Given the description of an element on the screen output the (x, y) to click on. 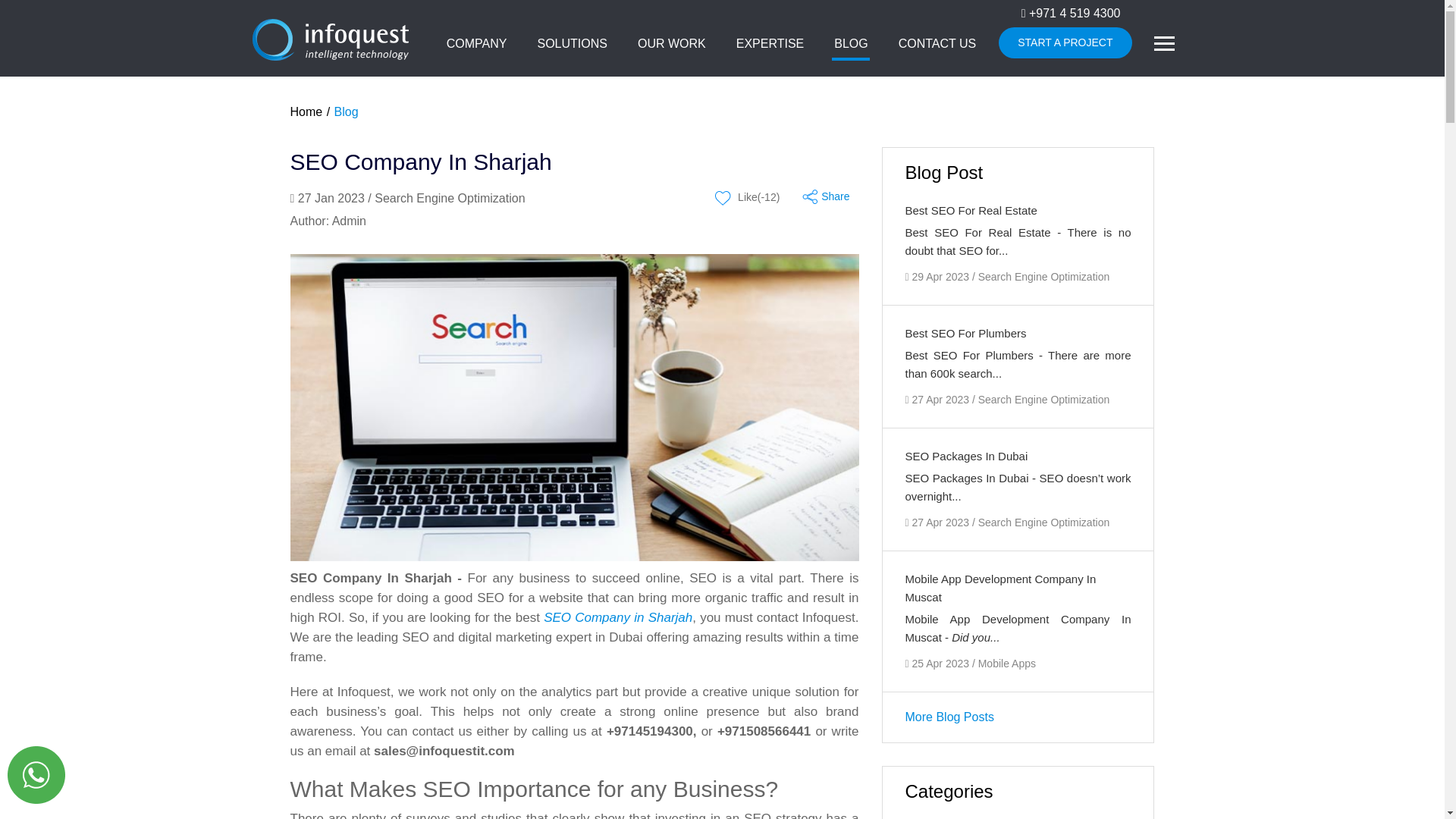
EXPERTISE (770, 45)
CONTACT US (937, 45)
COMPANY (477, 45)
SOLUTIONS (571, 45)
Best SEO For Plumbers (965, 332)
SEO Company in Sharjah (618, 617)
Share (830, 195)
Home (305, 111)
More Blog Posts (949, 716)
OUR WORK (671, 45)
BLOG (851, 45)
Best SEO For Real Estate (970, 210)
SEO Packages In Dubai (966, 455)
Mobile App Development Company In Muscat (1000, 587)
START A PROJECT (1064, 42)
